Given the description of an element on the screen output the (x, y) to click on. 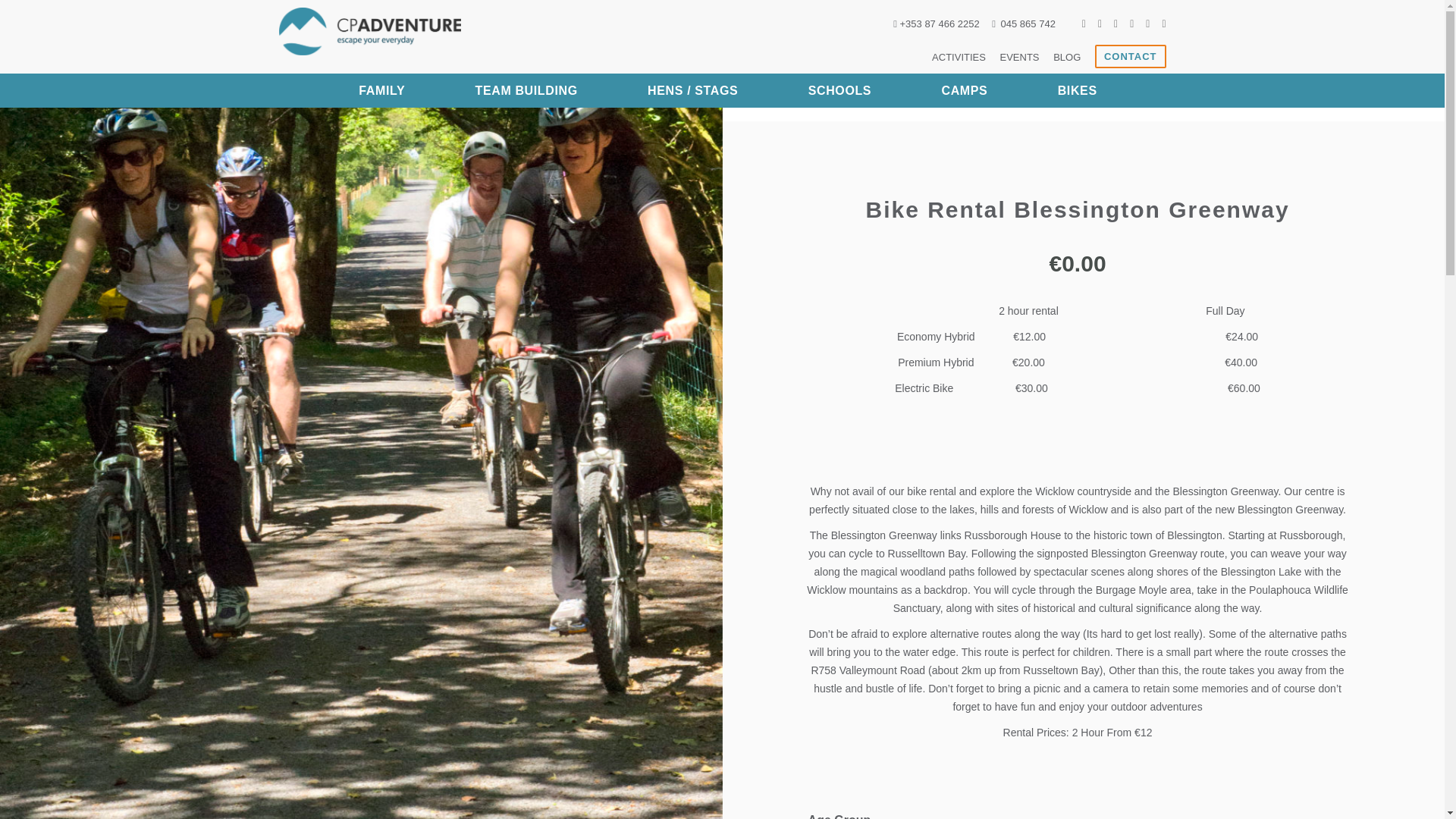
BLOG (1066, 57)
ACTIVITIES (958, 57)
BIKES (1077, 90)
CONTACT (1130, 56)
TEAM BUILDING (525, 90)
EVENTS (1019, 57)
SCHOOLS (840, 90)
FAMILY (381, 90)
045 865 742 (1023, 23)
CAMPS (963, 90)
